Given the description of an element on the screen output the (x, y) to click on. 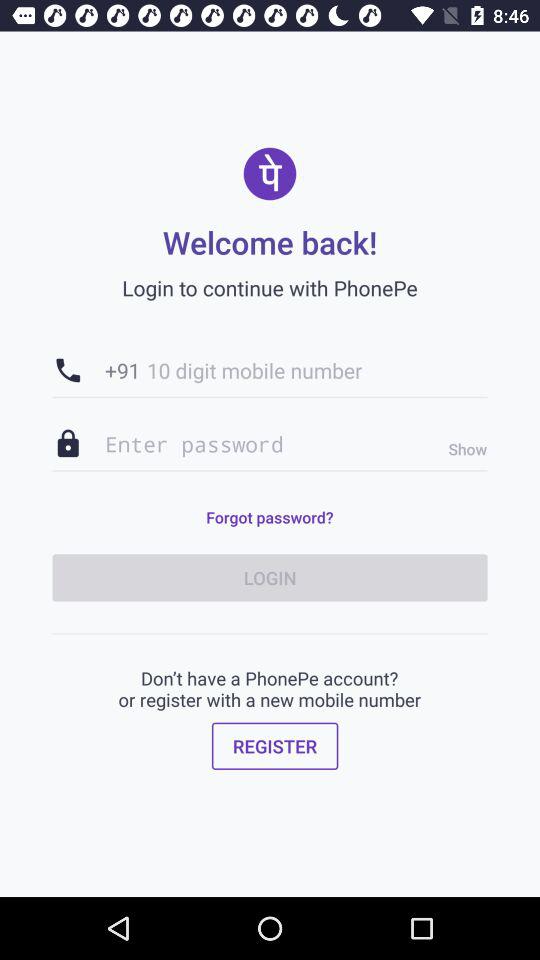
launch show item (462, 449)
